Given the description of an element on the screen output the (x, y) to click on. 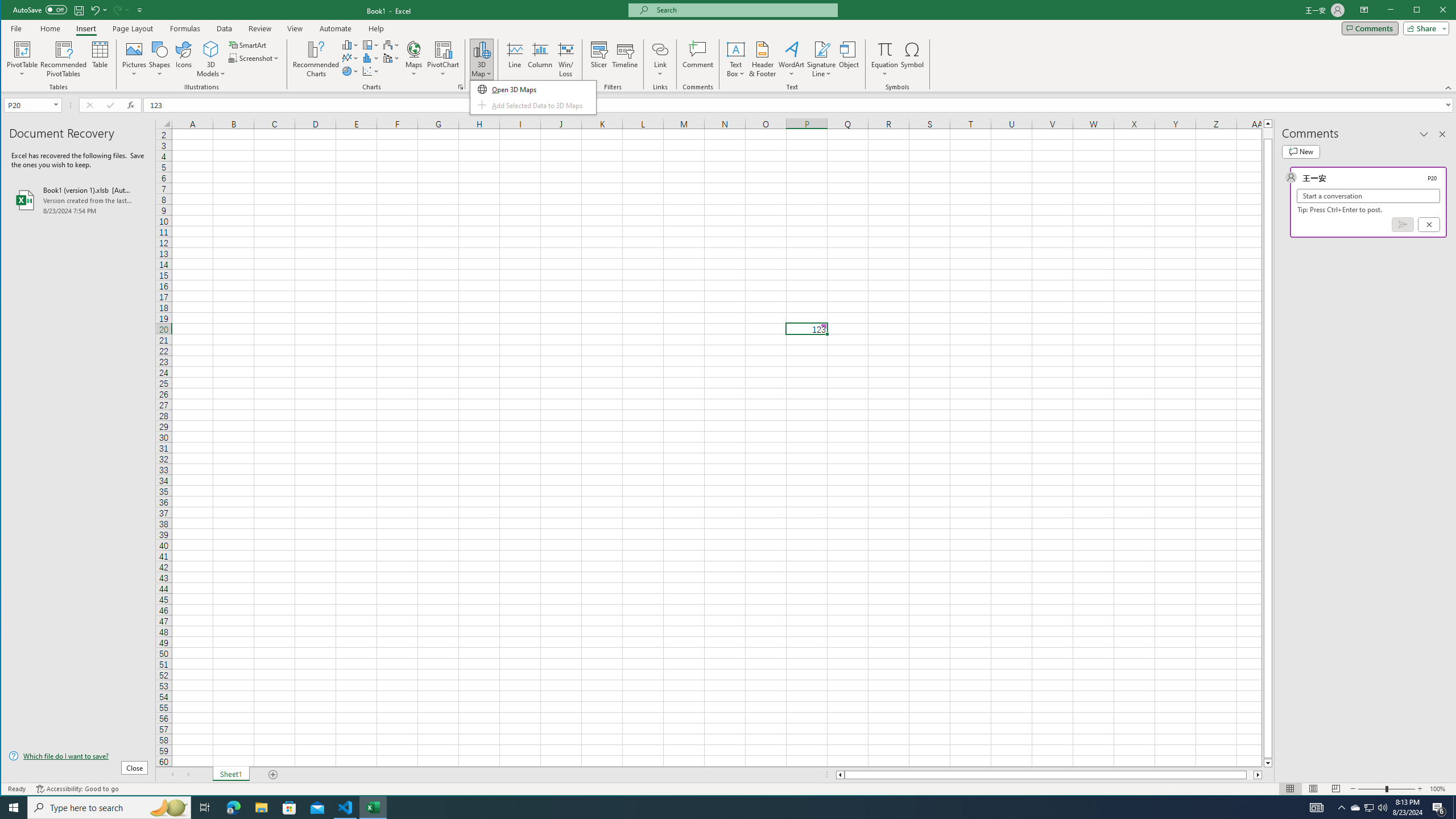
Link (659, 48)
Draw Horizontal Text Box (735, 48)
PivotChart (443, 48)
&3D Map (533, 97)
Task View (204, 807)
WordArt (791, 59)
Insert Line or Area Chart (350, 57)
Notification Chevron (1341, 807)
Text Box (735, 59)
